Given the description of an element on the screen output the (x, y) to click on. 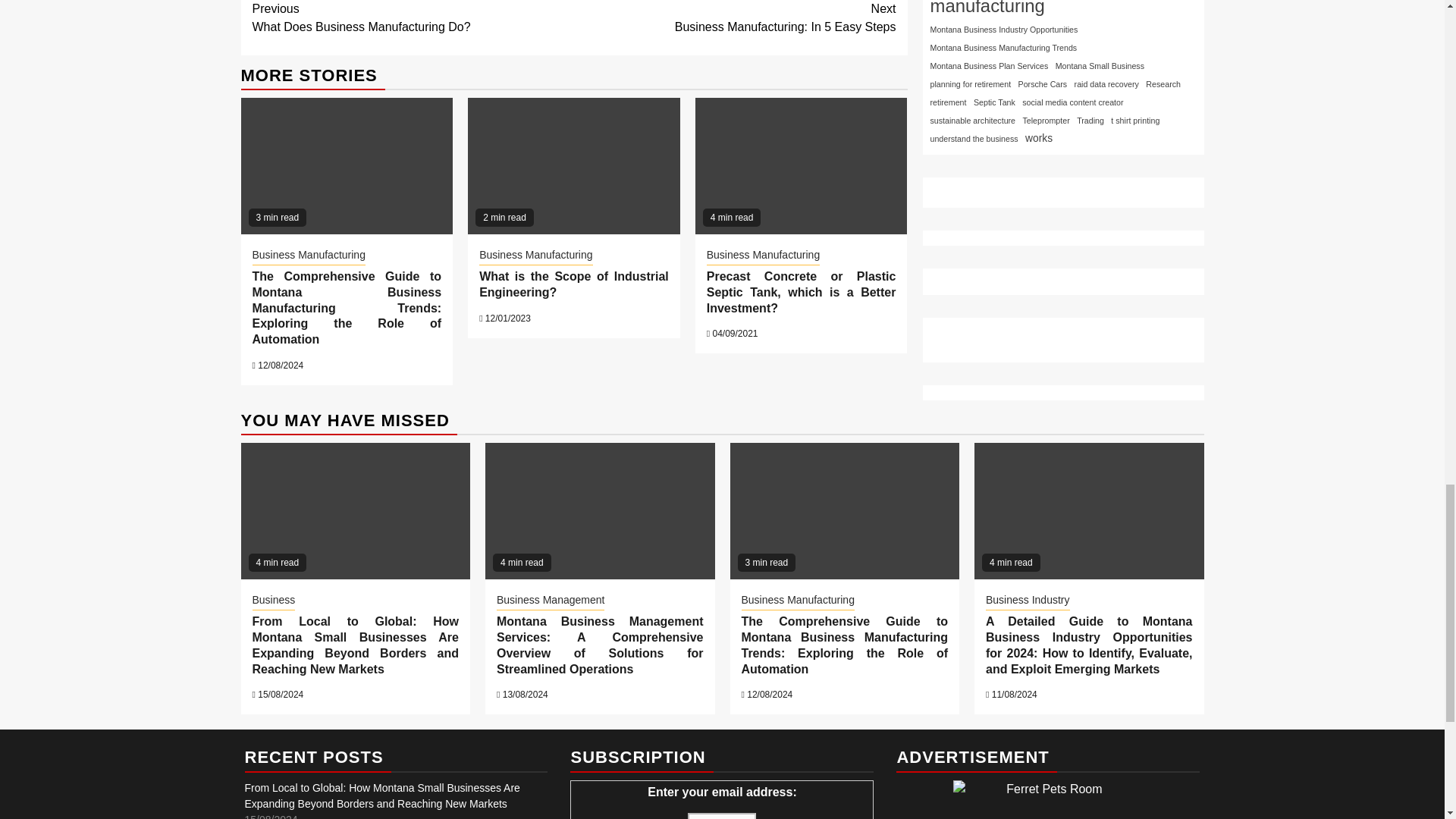
What is the Scope of Industrial Engineering? (573, 284)
Business Manufacturing (308, 256)
Business Manufacturing (734, 18)
What is the Scope of Industrial Engineering? (412, 18)
Business Manufacturing (762, 256)
